Given the description of an element on the screen output the (x, y) to click on. 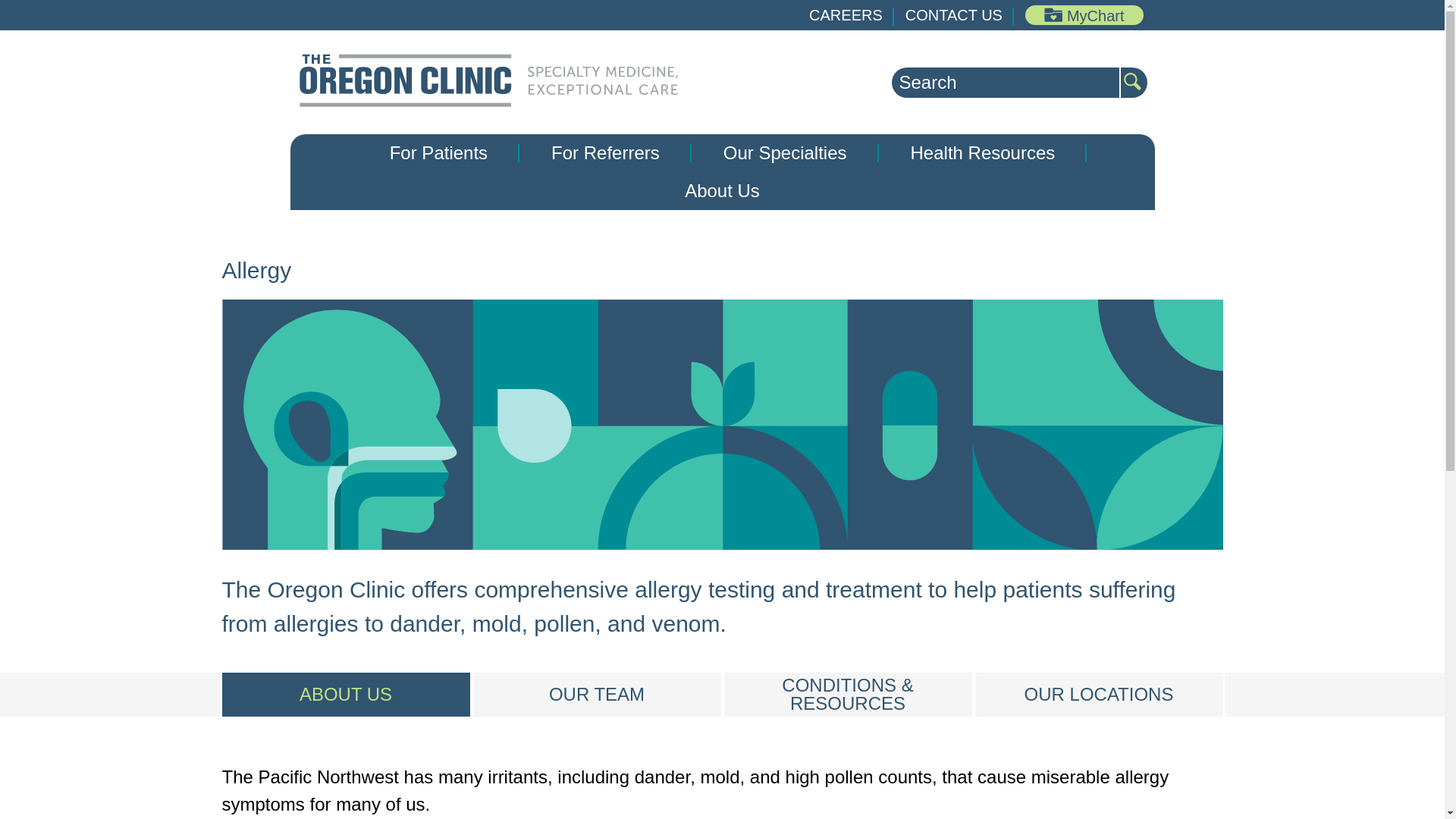
CAREERS (845, 15)
Search for: (1005, 81)
CONTACT US (954, 15)
MyChart (1083, 14)
